Given the description of an element on the screen output the (x, y) to click on. 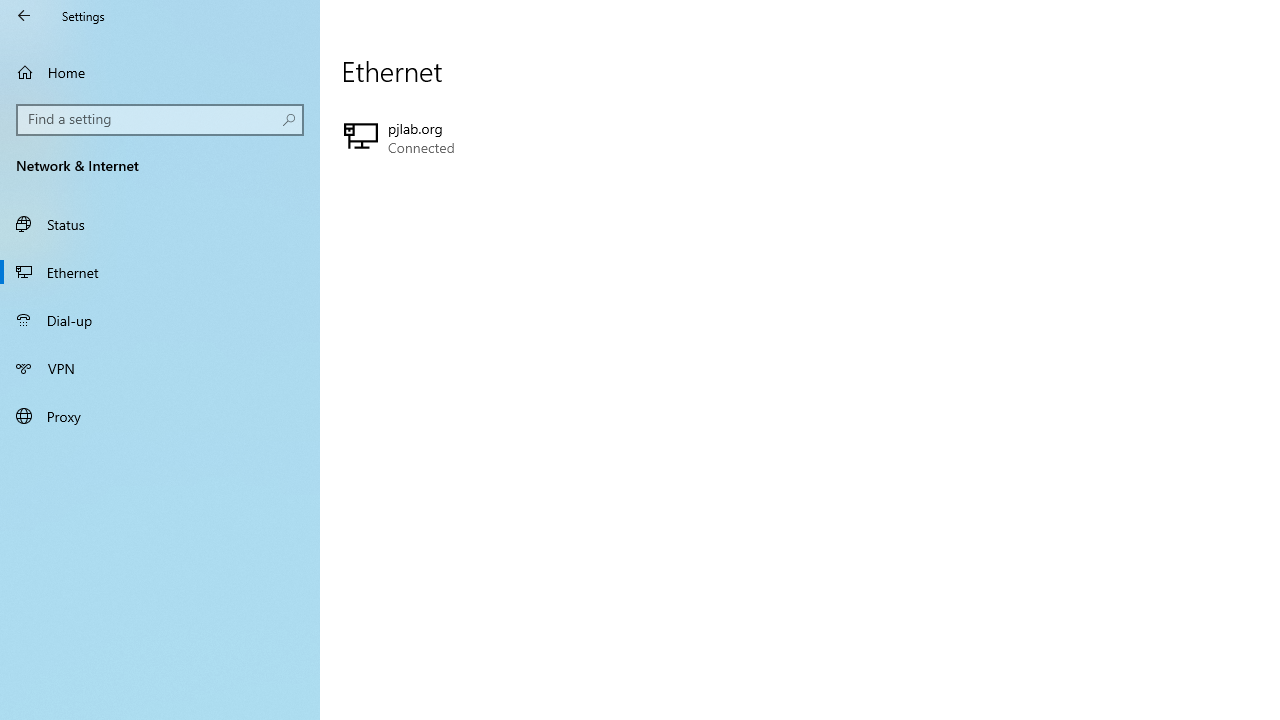
VPN (160, 367)
Ethernet (160, 271)
Status (160, 223)
Dial-up (160, 319)
Home (160, 71)
pjlab.org (563, 137)
Proxy (160, 415)
Search box, Find a setting (160, 119)
pjlab.org Connected (563, 137)
Back (24, 15)
